Given the description of an element on the screen output the (x, y) to click on. 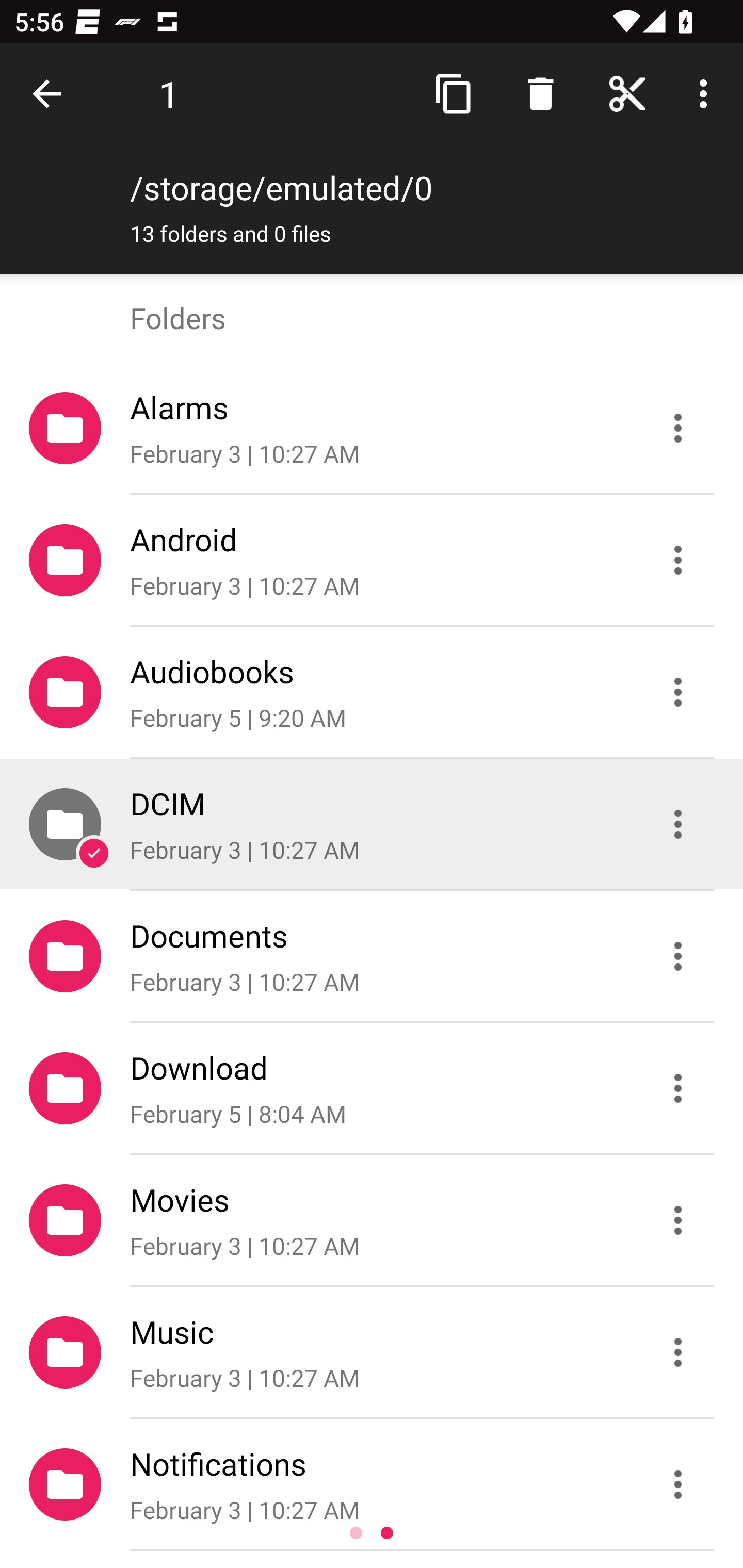
Navigate up (50, 93)
1 (169, 93)
Copy (453, 93)
Search (540, 93)
Home (626, 93)
More options (706, 93)
Alarms February 3 | 10:27 AM (371, 427)
Android February 3 | 10:27 AM (371, 560)
Audiobooks February 5 | 9:20 AM (371, 692)
DCIM February 3 | 10:27 AM (371, 823)
Documents February 3 | 10:27 AM (371, 955)
Download February 5 | 8:04 AM (371, 1088)
Movies February 3 | 10:27 AM (371, 1220)
Music February 3 | 10:27 AM (371, 1352)
Notifications February 3 | 10:27 AM (371, 1484)
